Given the description of an element on the screen output the (x, y) to click on. 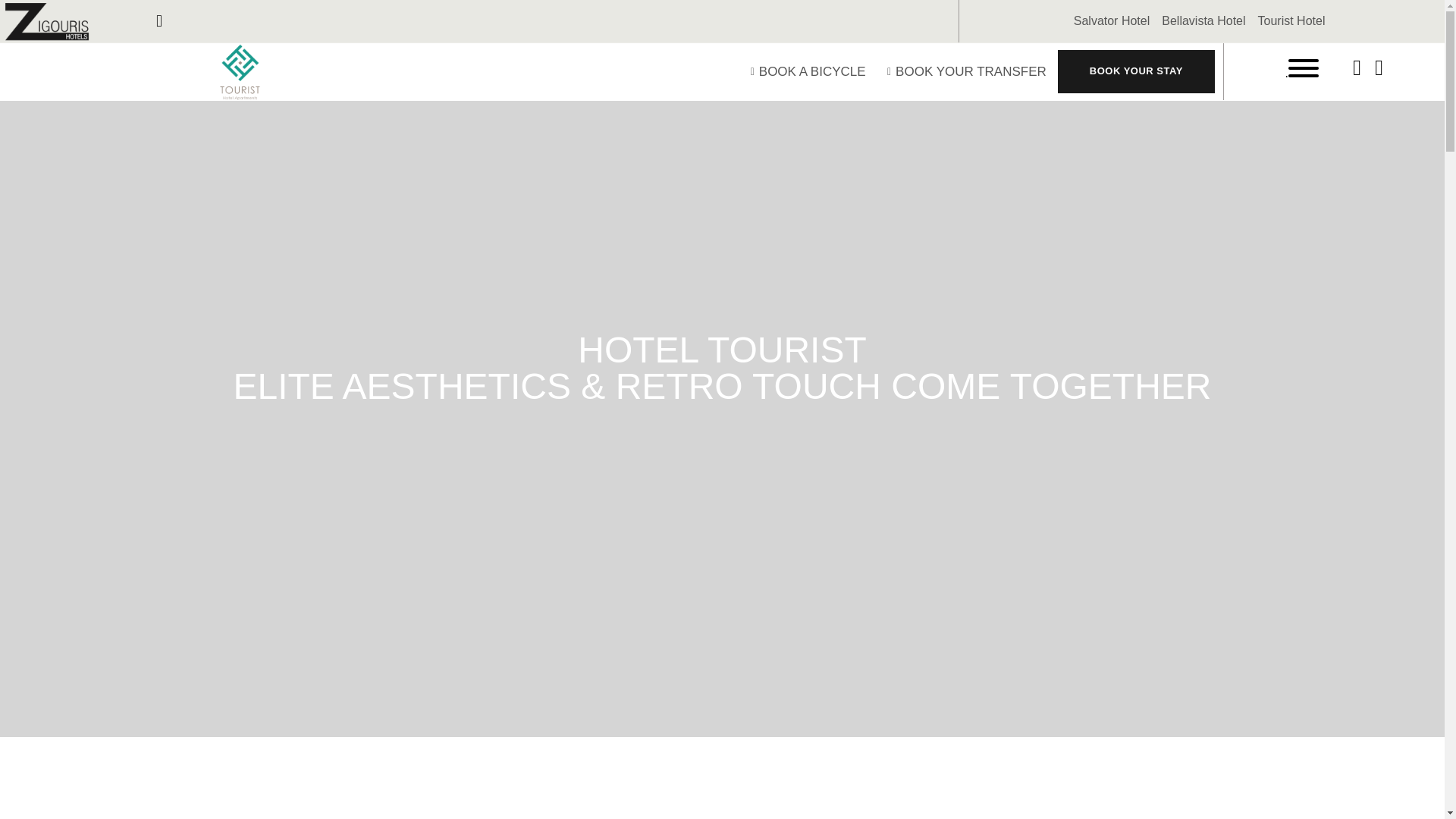
BOOK YOUR STAY (1136, 71)
. (1300, 70)
. (1300, 72)
